Given the description of an element on the screen output the (x, y) to click on. 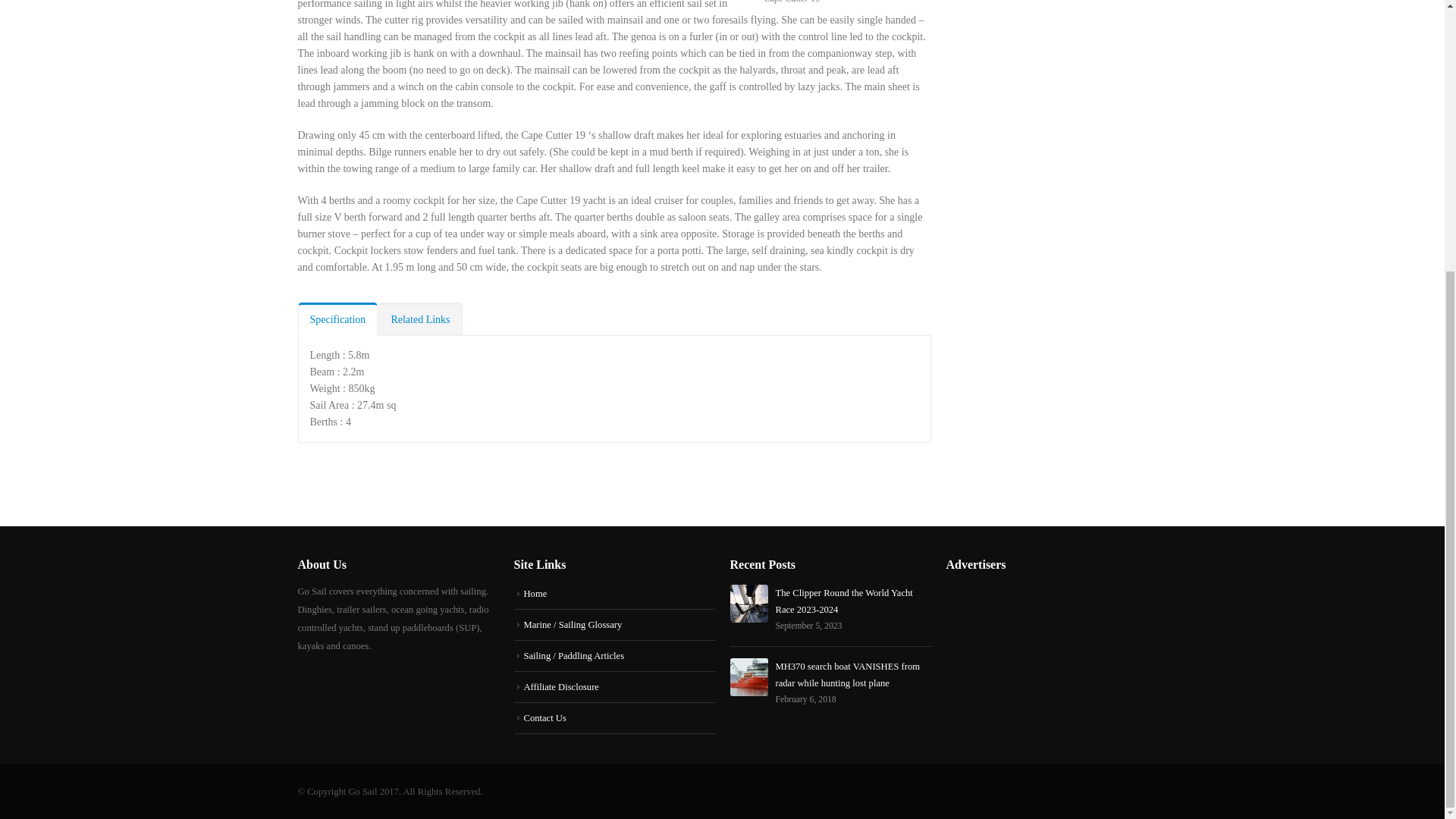
Home (534, 593)
Related Links (419, 318)
Specification (337, 318)
Advertisement (1059, 126)
